Given the description of an element on the screen output the (x, y) to click on. 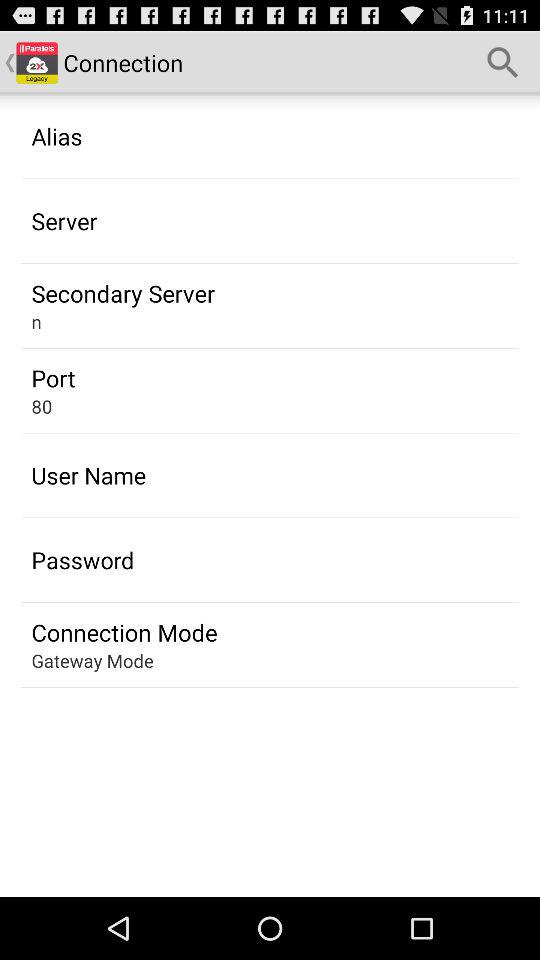
choose the item below the 80 item (88, 475)
